Given the description of an element on the screen output the (x, y) to click on. 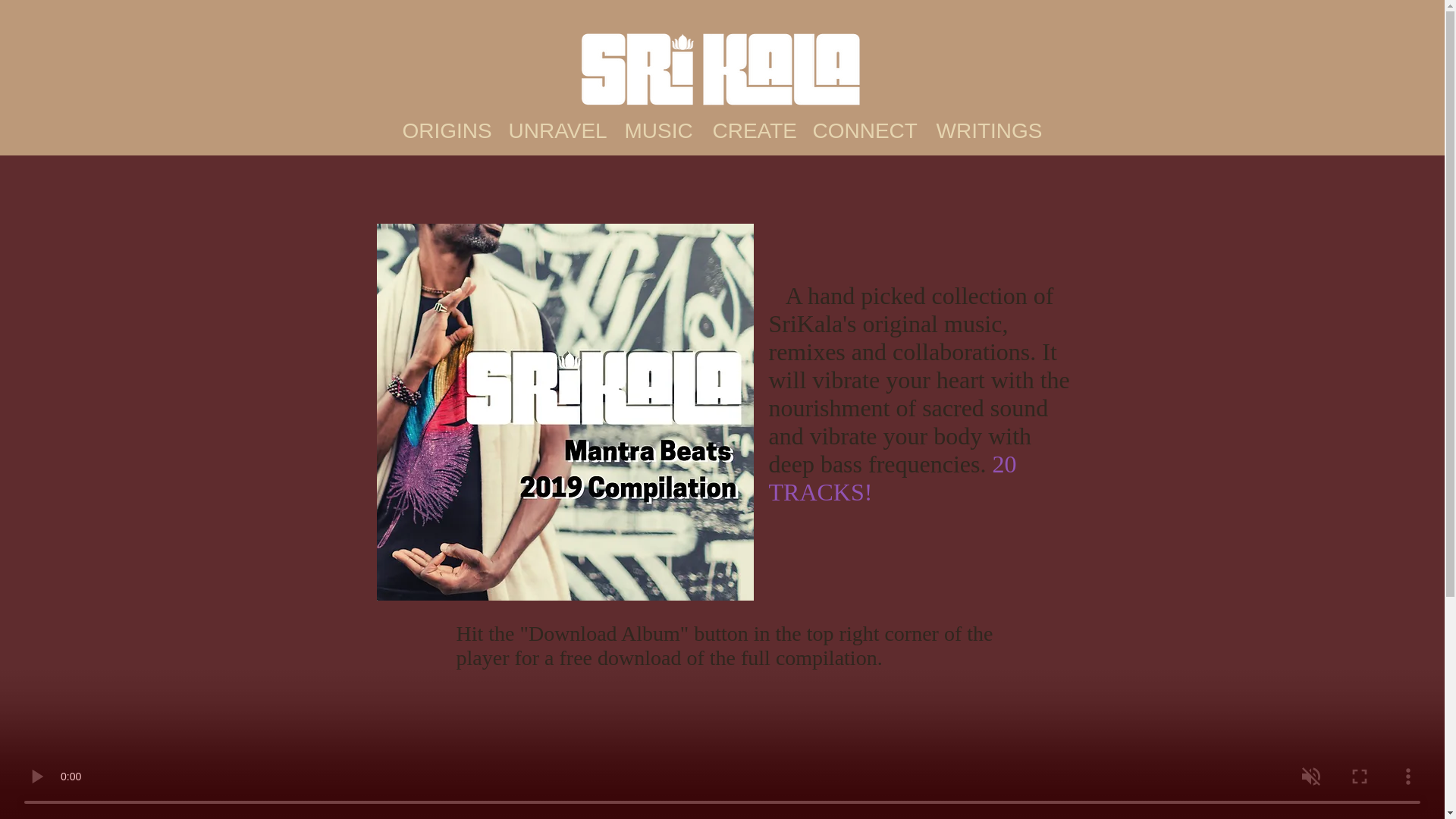
MUSIC (659, 129)
WRITINGS (987, 129)
CREATE (753, 129)
CONNECT (865, 129)
ORIGINS (446, 129)
